Given the description of an element on the screen output the (x, y) to click on. 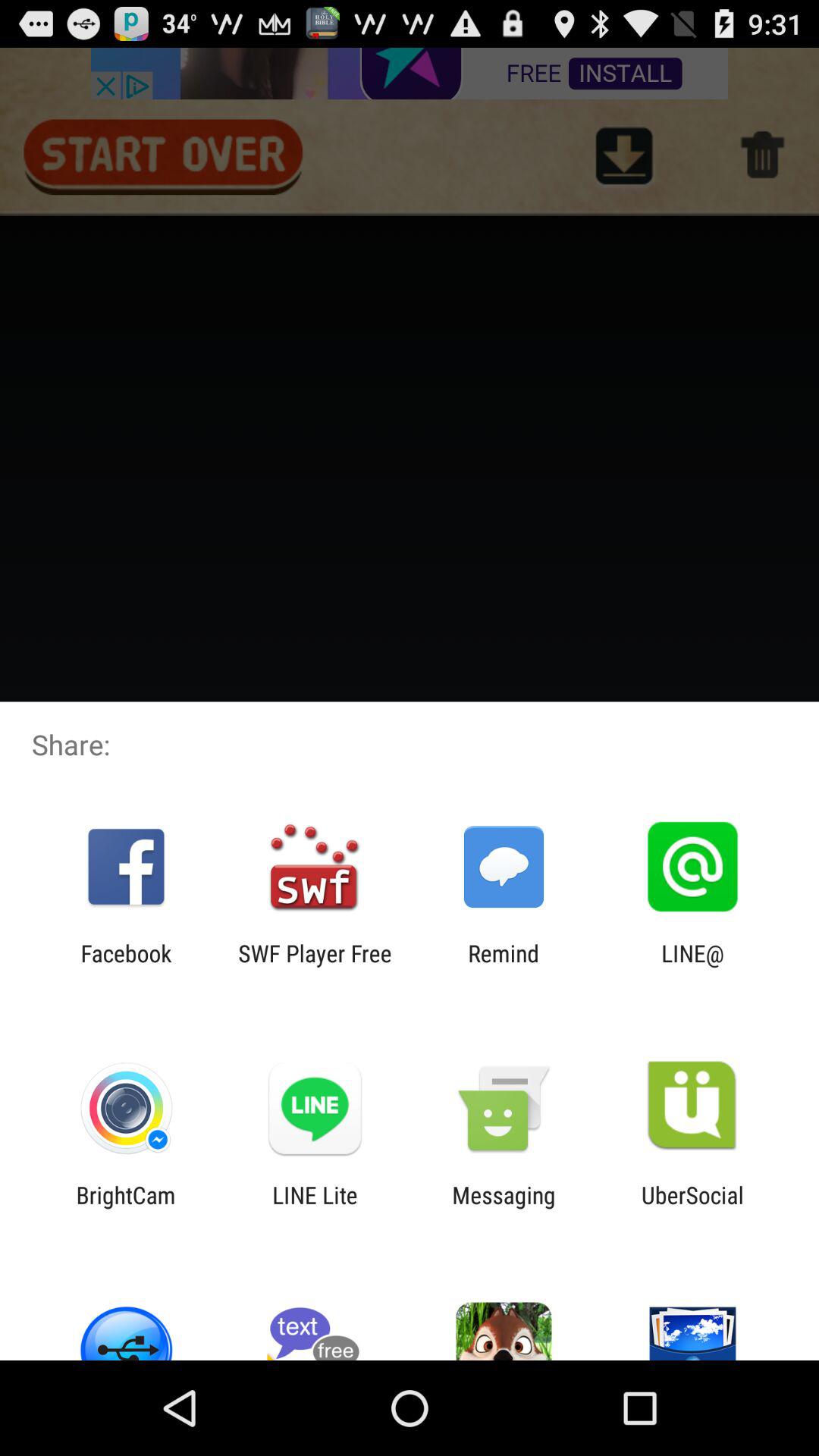
open icon to the left of the line lite app (125, 1208)
